Given the description of an element on the screen output the (x, y) to click on. 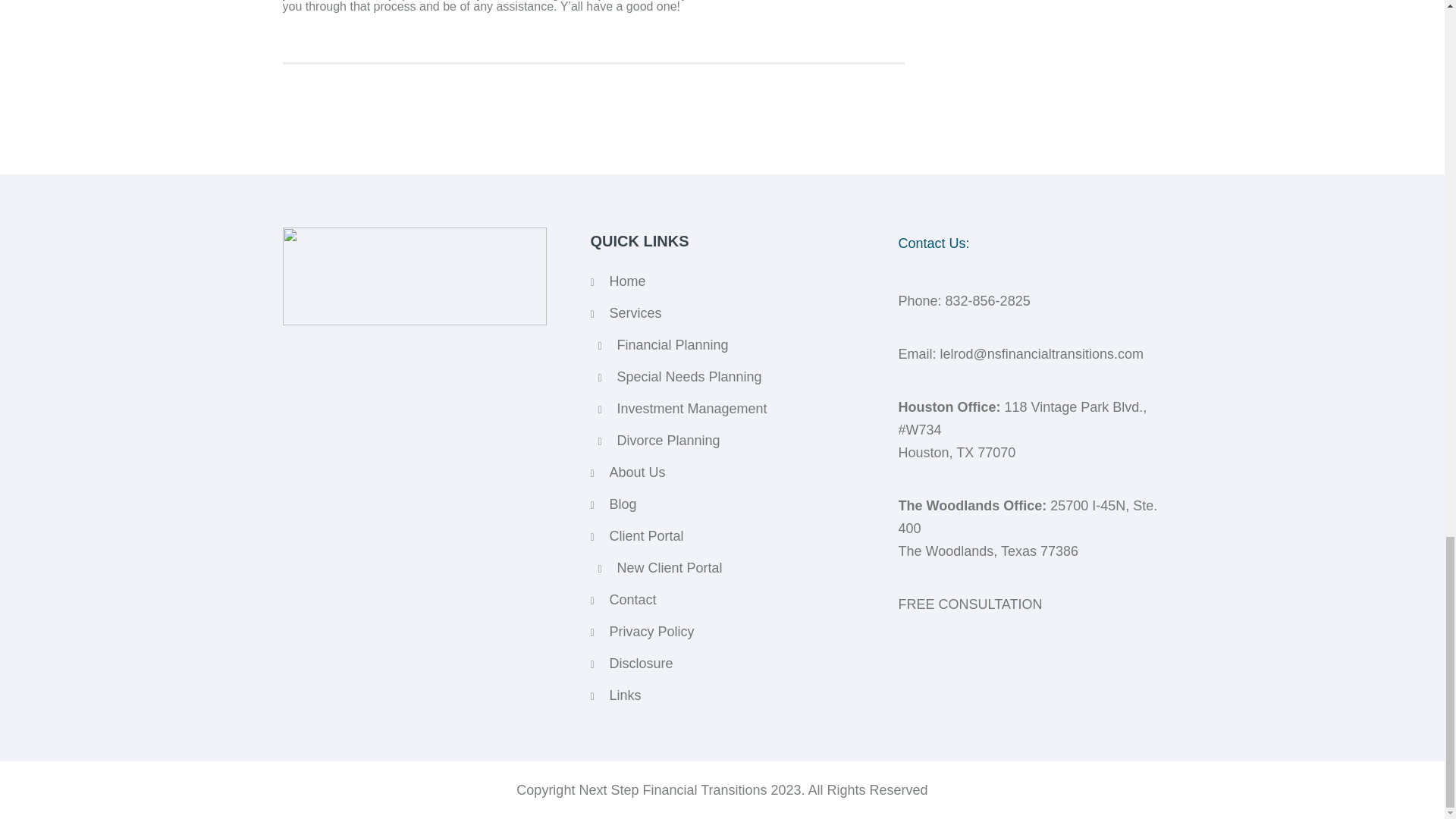
Financial Planning (673, 344)
Contact (633, 599)
Financial Planning (673, 344)
Client Portal (647, 535)
Disclosure (641, 663)
Privacy Policy (652, 631)
Divorce Planning (668, 440)
Blog (623, 503)
Investment Management (692, 408)
Home (628, 281)
